Given the description of an element on the screen output the (x, y) to click on. 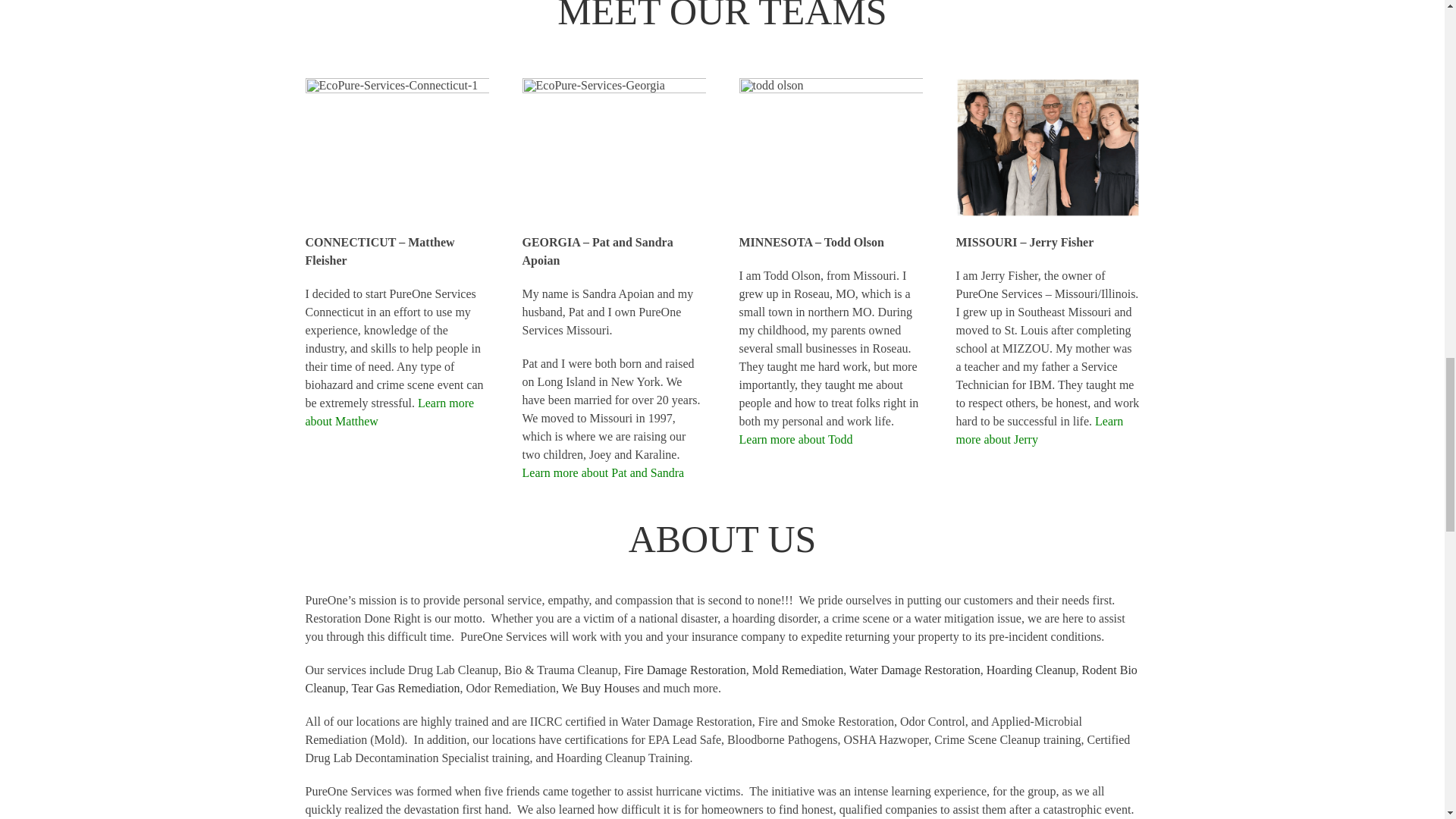
We Buy House (598, 687)
Tear Gas Remediation (406, 687)
Mold Remediation (797, 669)
Water Damage Restoration (913, 669)
Fire Damage Restoration (684, 669)
Hoarding Cleanup (1031, 669)
Rodent Bio Cleanup (720, 678)
